Given the description of an element on the screen output the (x, y) to click on. 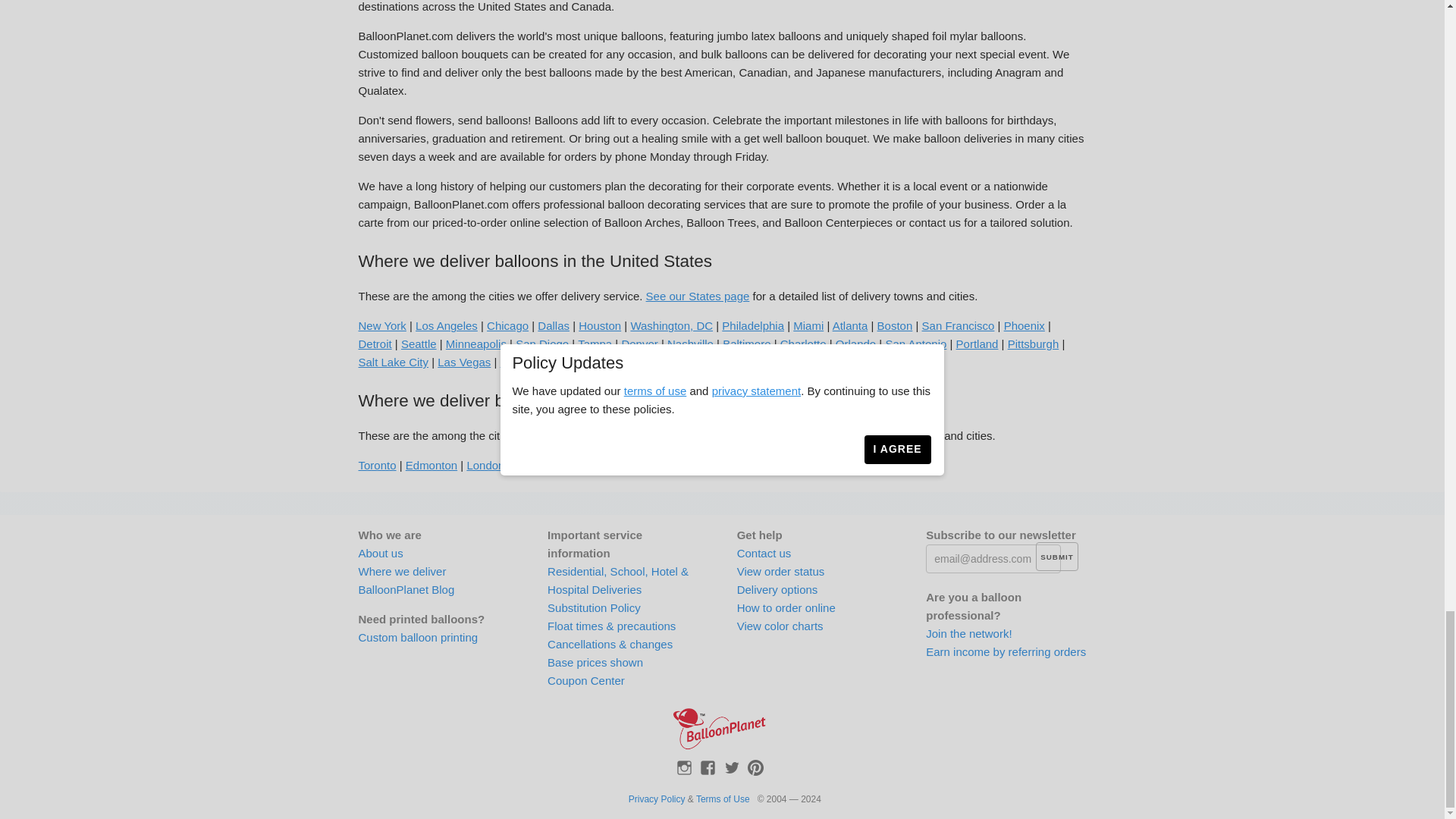
Submit (1056, 556)
